Given the description of an element on the screen output the (x, y) to click on. 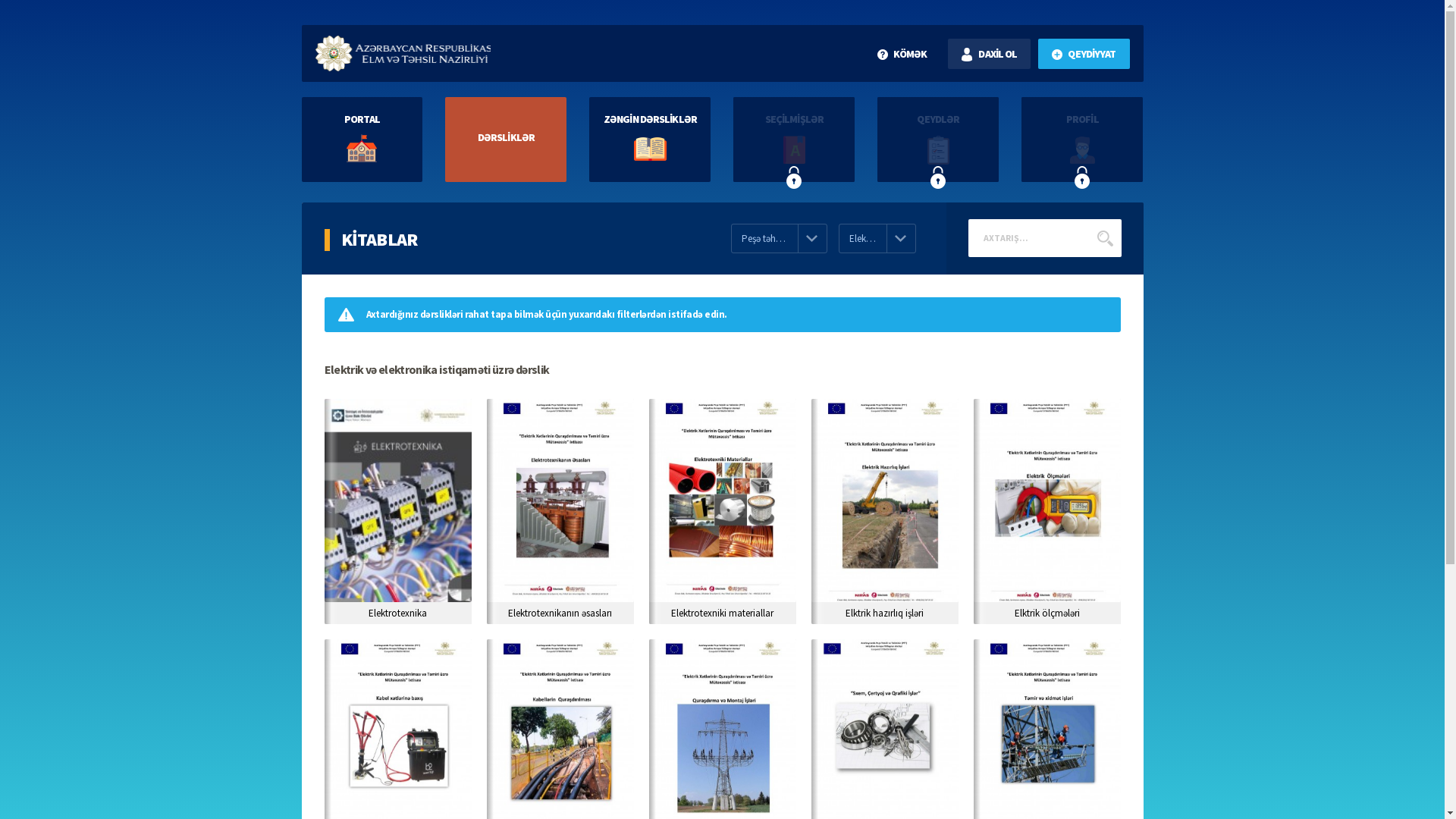
PORTAL Element type: text (362, 139)
Elektrotexnika Element type: text (397, 511)
0 Element type: text (688, 249)
Elektrotexniki materiallar Element type: text (722, 511)
Logo Element type: text (402, 53)
AXTAR Element type: text (1105, 237)
